Given the description of an element on the screen output the (x, y) to click on. 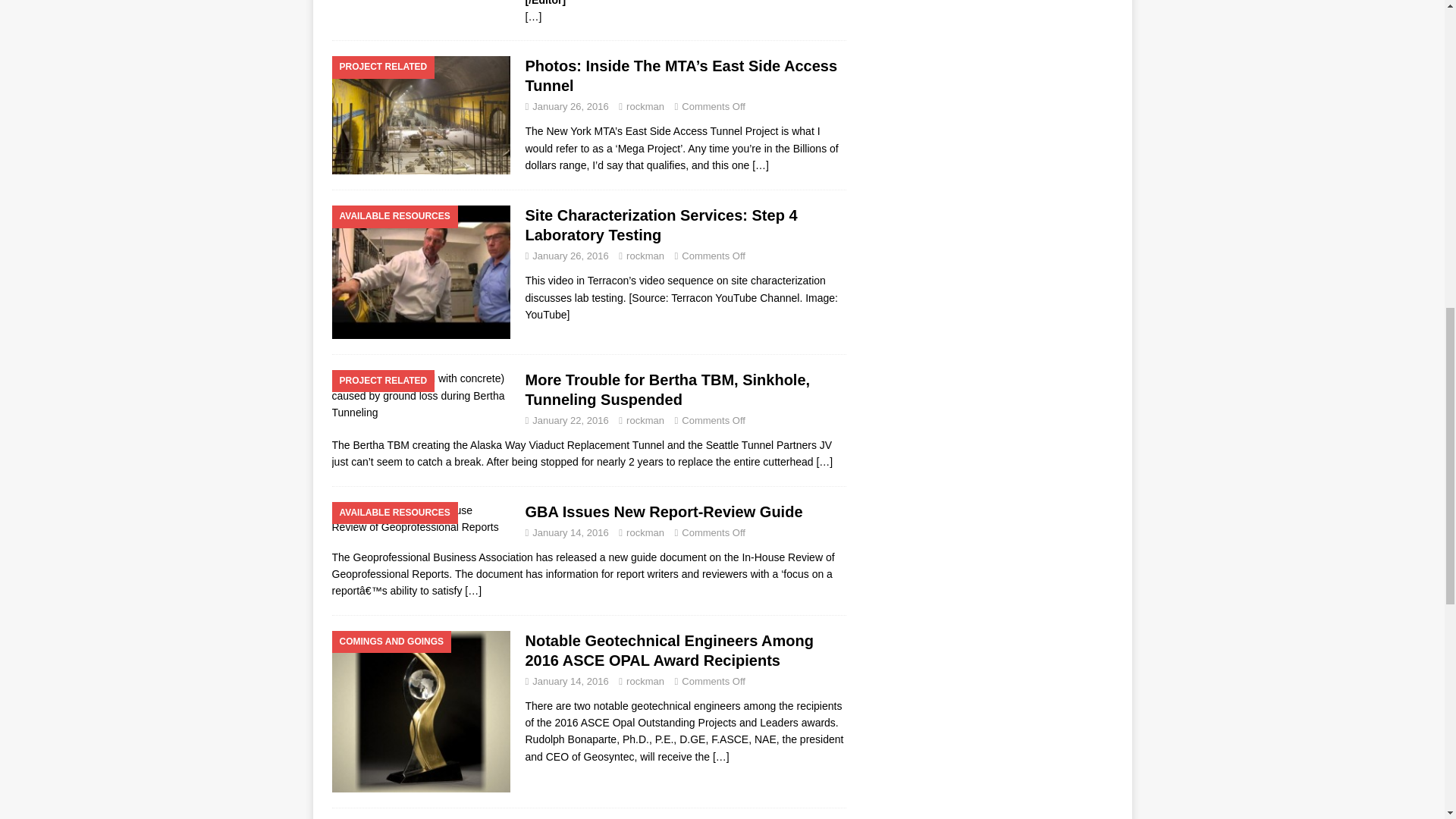
January 26, 2016 (570, 106)
More Trouble for Bertha TBM, Sinkhole, Tunneling Suspended (666, 389)
GBA Issues New Report-Review Guide (472, 590)
rockman (644, 106)
GBA Issues New Report-Review Guide (663, 511)
More Trouble for Bertha TBM, Sinkhole, Tunneling Suspended (823, 461)
Site Characterization Services: Step 4 Laboratory Testing (660, 225)
